Given the description of an element on the screen output the (x, y) to click on. 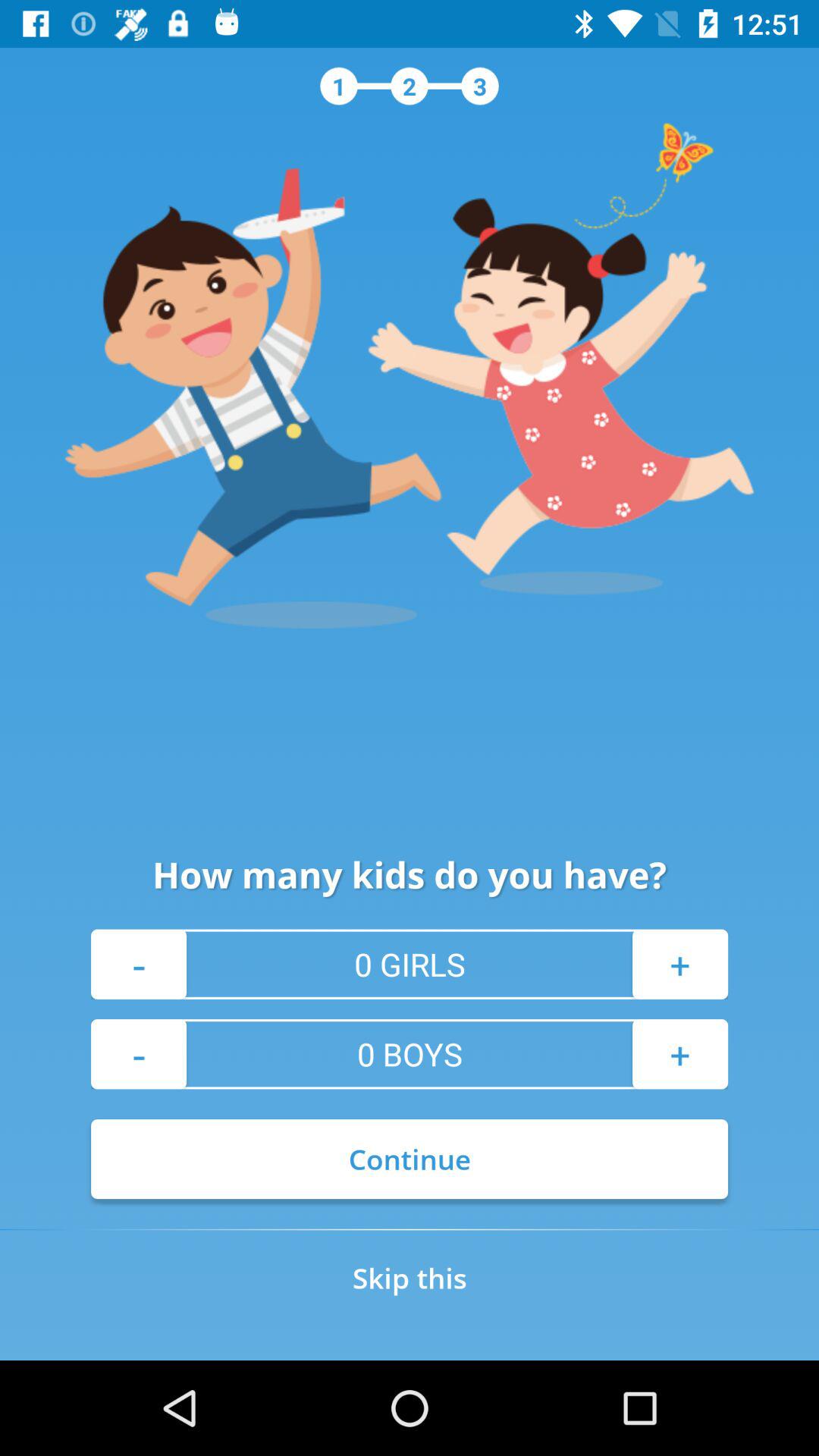
choose the icon above continue item (680, 1054)
